Given the description of an element on the screen output the (x, y) to click on. 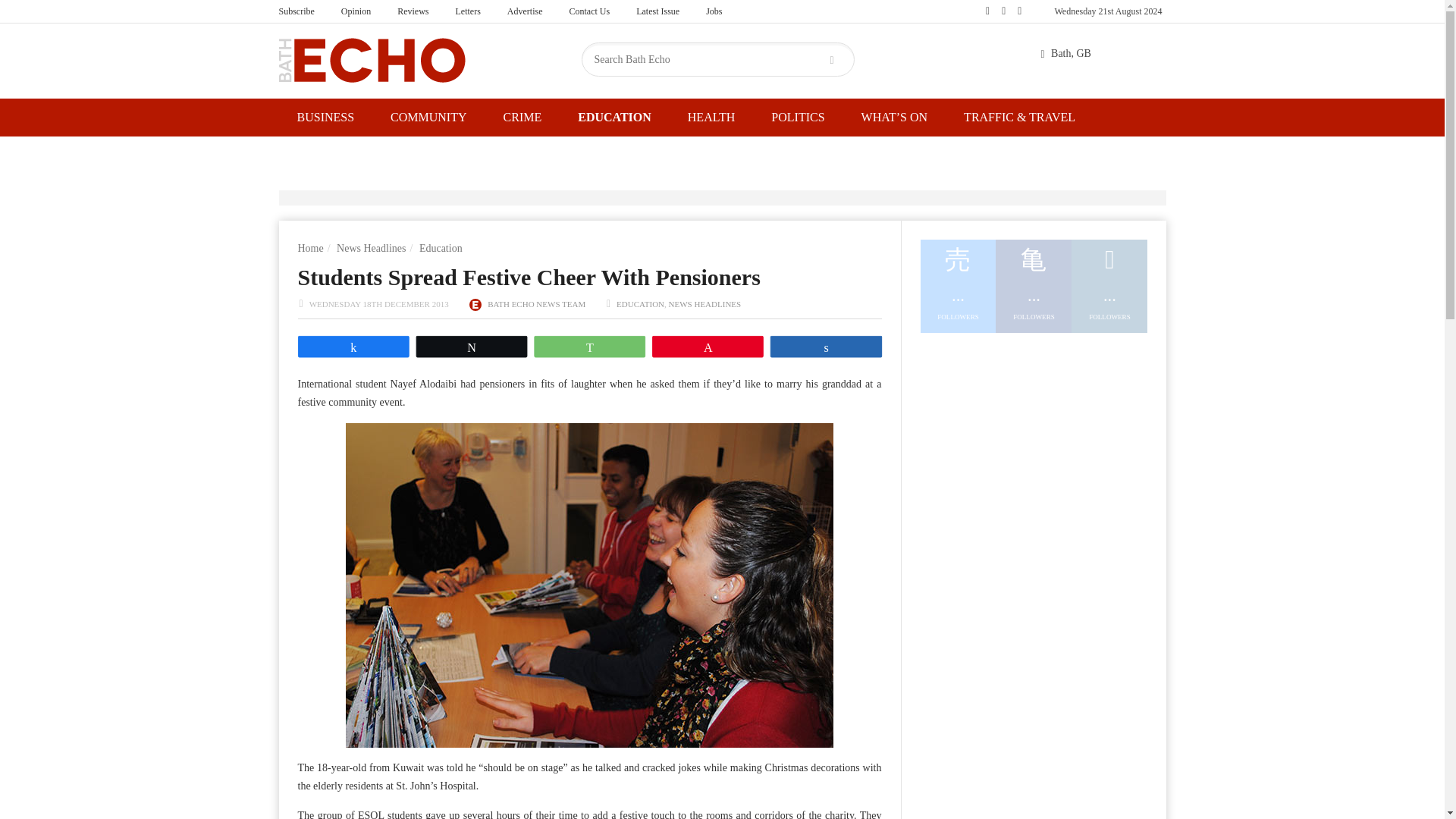
Contact Us (589, 11)
View all posts in News Headlines (704, 303)
Latest Issue (657, 11)
News Headlines (371, 247)
BUSINESS (325, 116)
CRIME (522, 116)
BATH ECHO NEWS TEAM (536, 303)
NEWS HEADLINES (704, 303)
Subscribe (295, 11)
Home (310, 247)
